Given the description of an element on the screen output the (x, y) to click on. 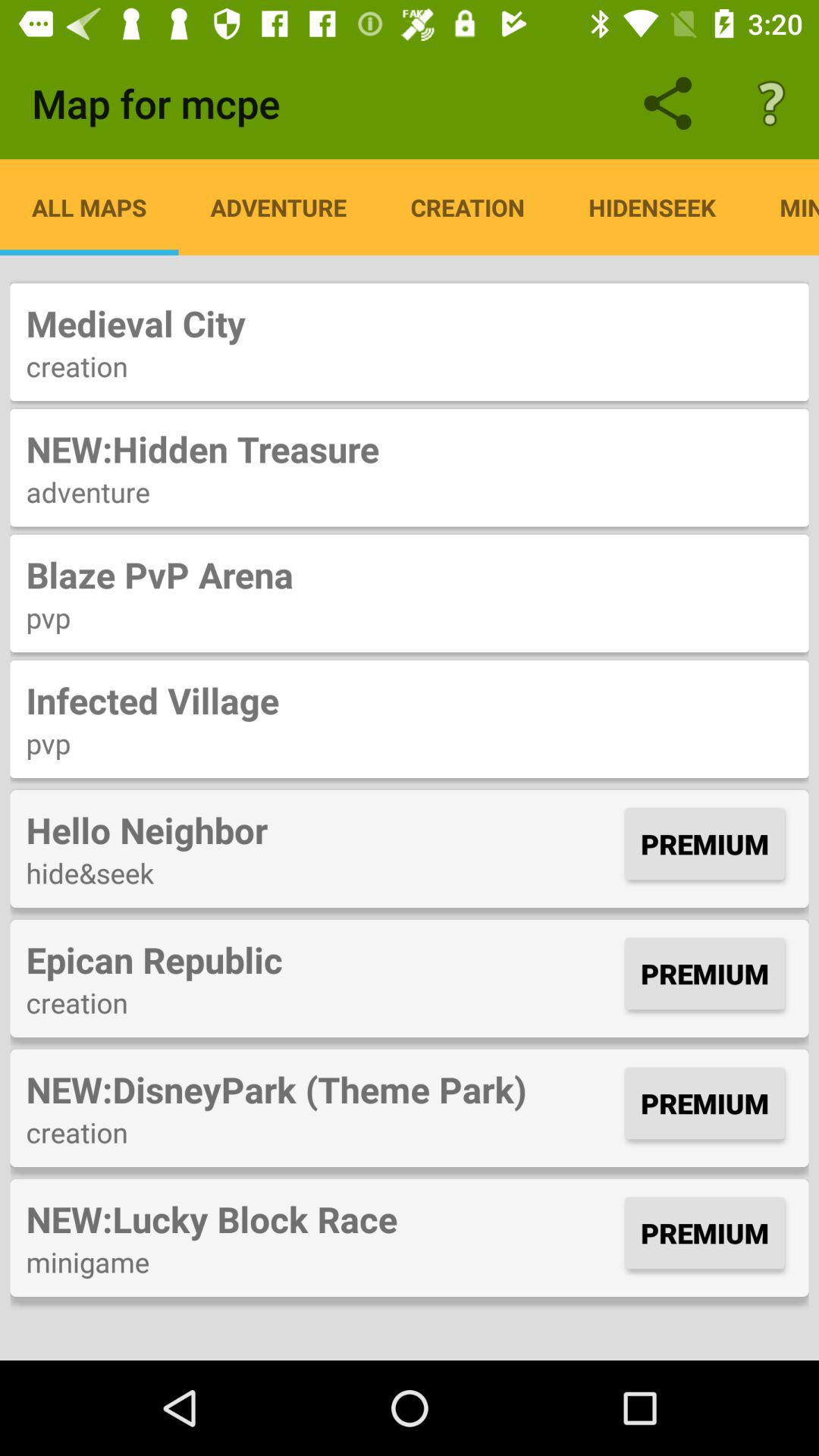
press the icon next to the minigame (651, 207)
